Given the description of an element on the screen output the (x, y) to click on. 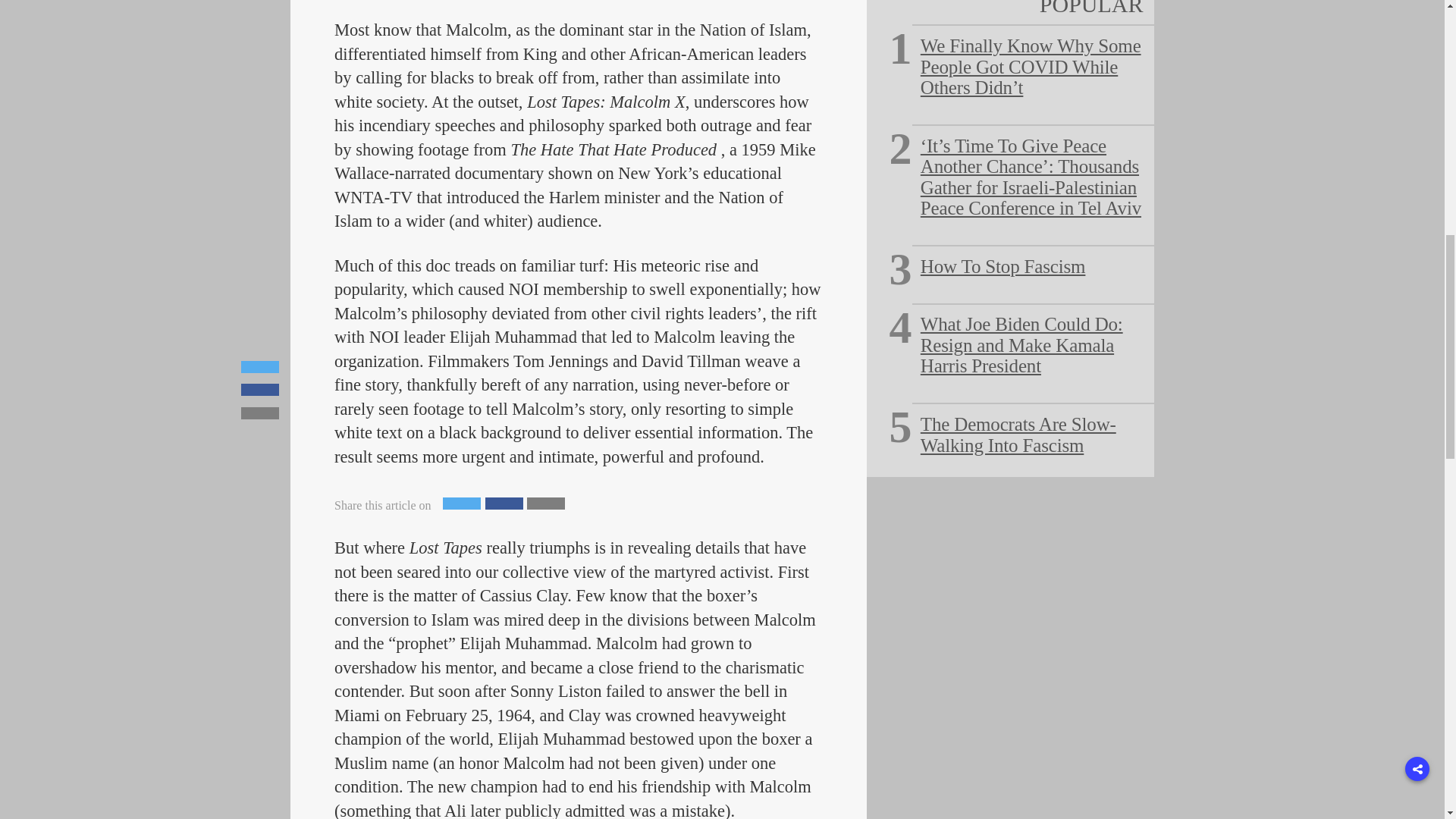
Twitter (461, 503)
Mail (545, 503)
Facebook (503, 503)
Mail (545, 503)
How To Stop Fascism (1003, 266)
Twitter (461, 503)
Facebook (503, 503)
